Given the description of an element on the screen output the (x, y) to click on. 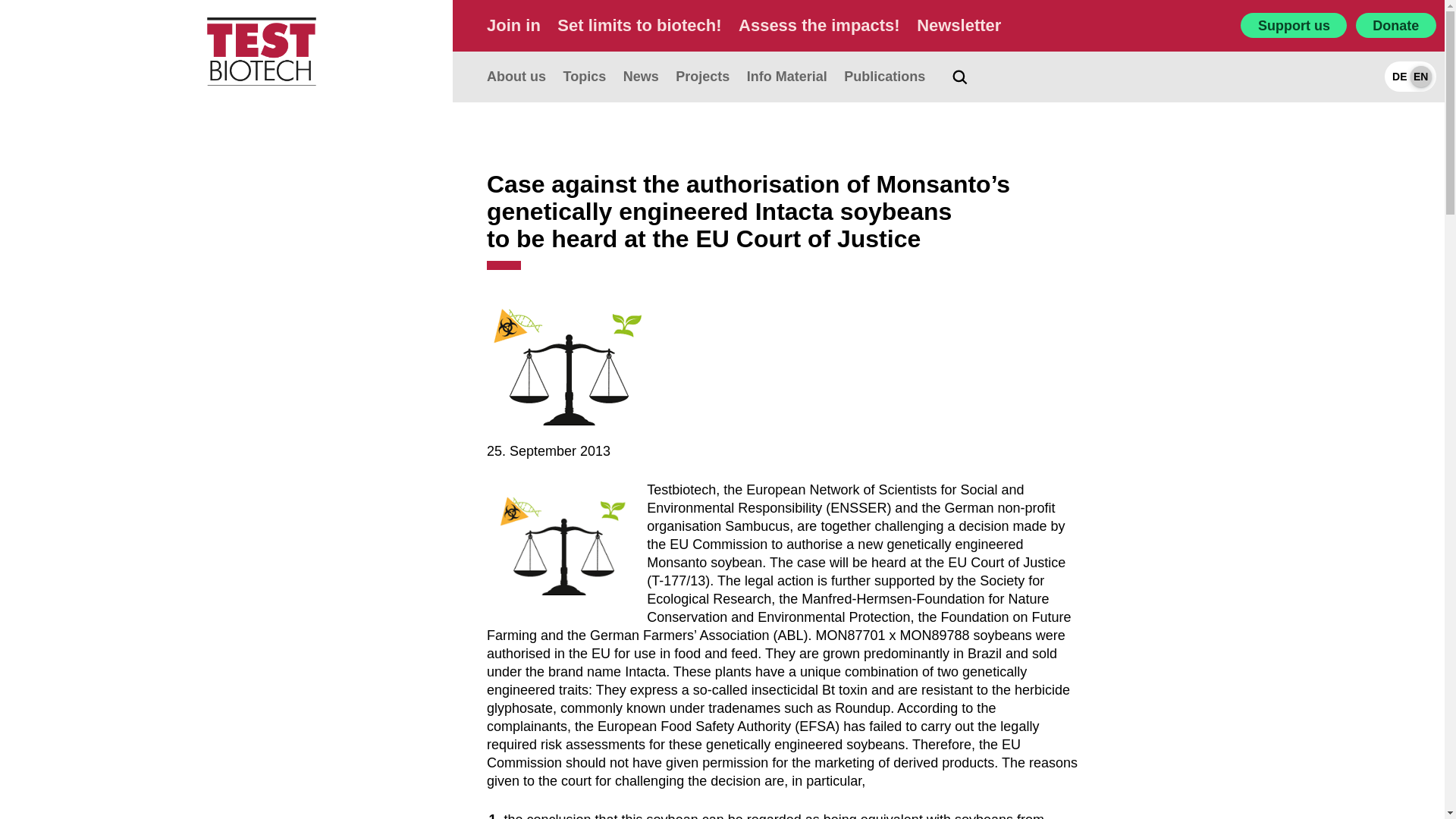
Donate (1395, 25)
Support us (1293, 25)
News (641, 76)
Topics (583, 76)
Assess the impacts! (818, 25)
Info Material (786, 76)
About us (516, 76)
Set limits to biotech! (638, 25)
English (1420, 76)
Newsletter (959, 25)
Publications (884, 76)
Join in (513, 25)
Search (1392, 767)
Search (1392, 767)
Projects (702, 76)
